Given the description of an element on the screen output the (x, y) to click on. 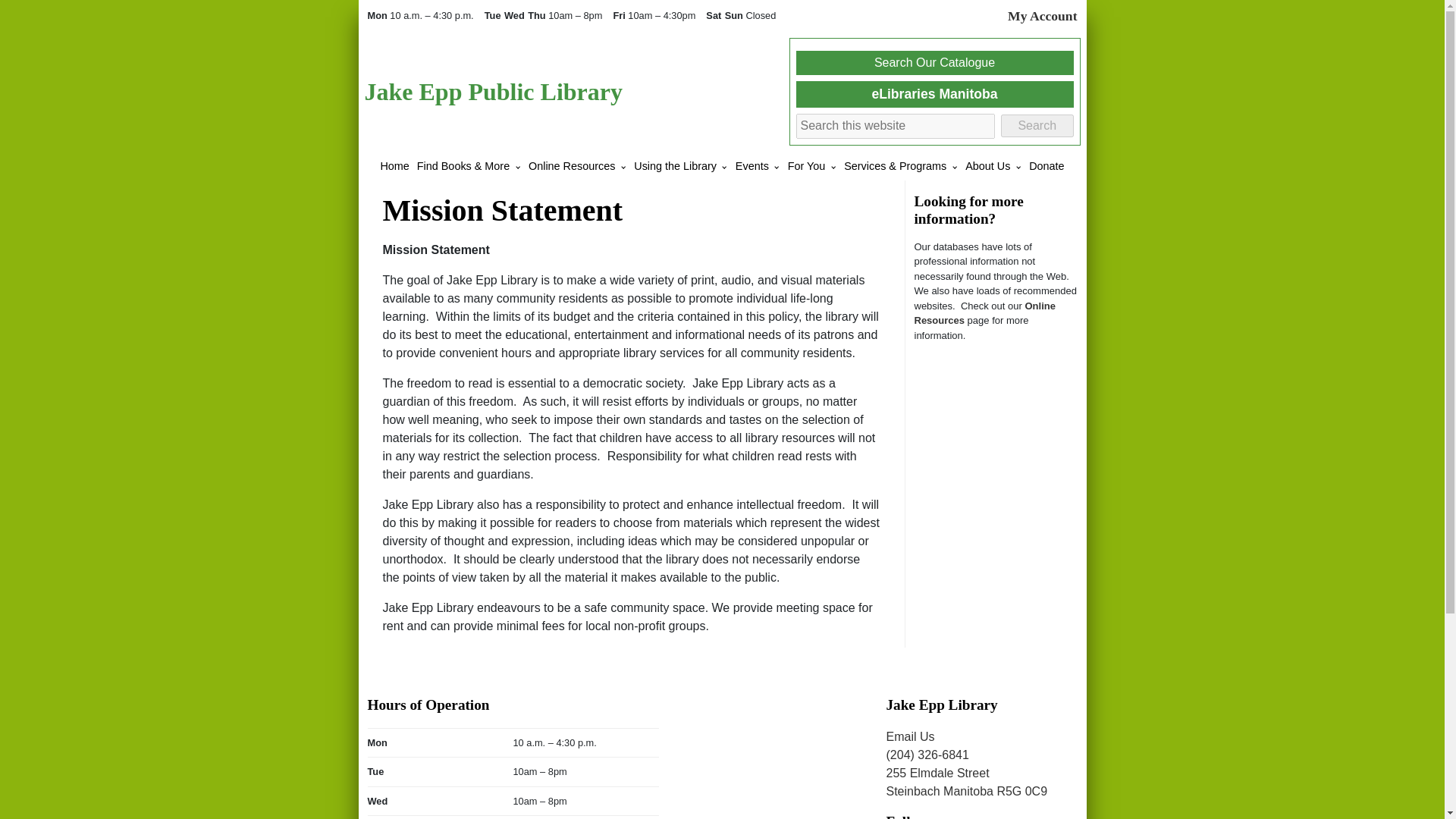
My Account (1042, 15)
Online Resources (571, 165)
Thursday (537, 15)
Search (1037, 125)
Jake Epp Public Library (493, 91)
Jake Epp Public Library (493, 91)
Wednesday (513, 15)
Monday (378, 15)
Saturday (713, 15)
Google Maps (772, 751)
Research (984, 313)
Friday (619, 15)
eLibraries Manitoba (934, 94)
Home (393, 165)
Search (1037, 125)
